Given the description of an element on the screen output the (x, y) to click on. 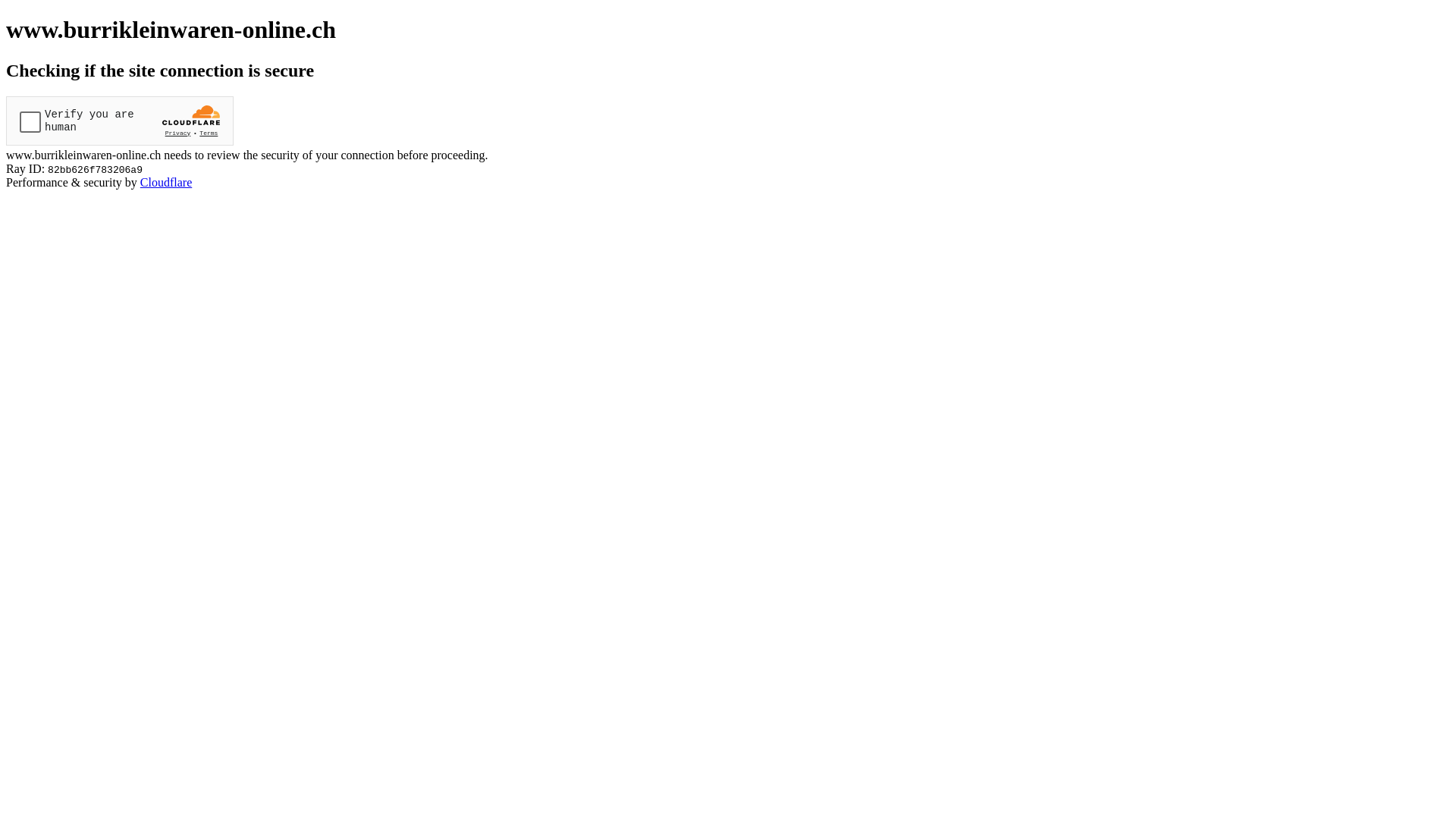
Cloudflare Element type: text (165, 181)
Widget containing a Cloudflare security challenge Element type: hover (119, 120)
